Given the description of an element on the screen output the (x, y) to click on. 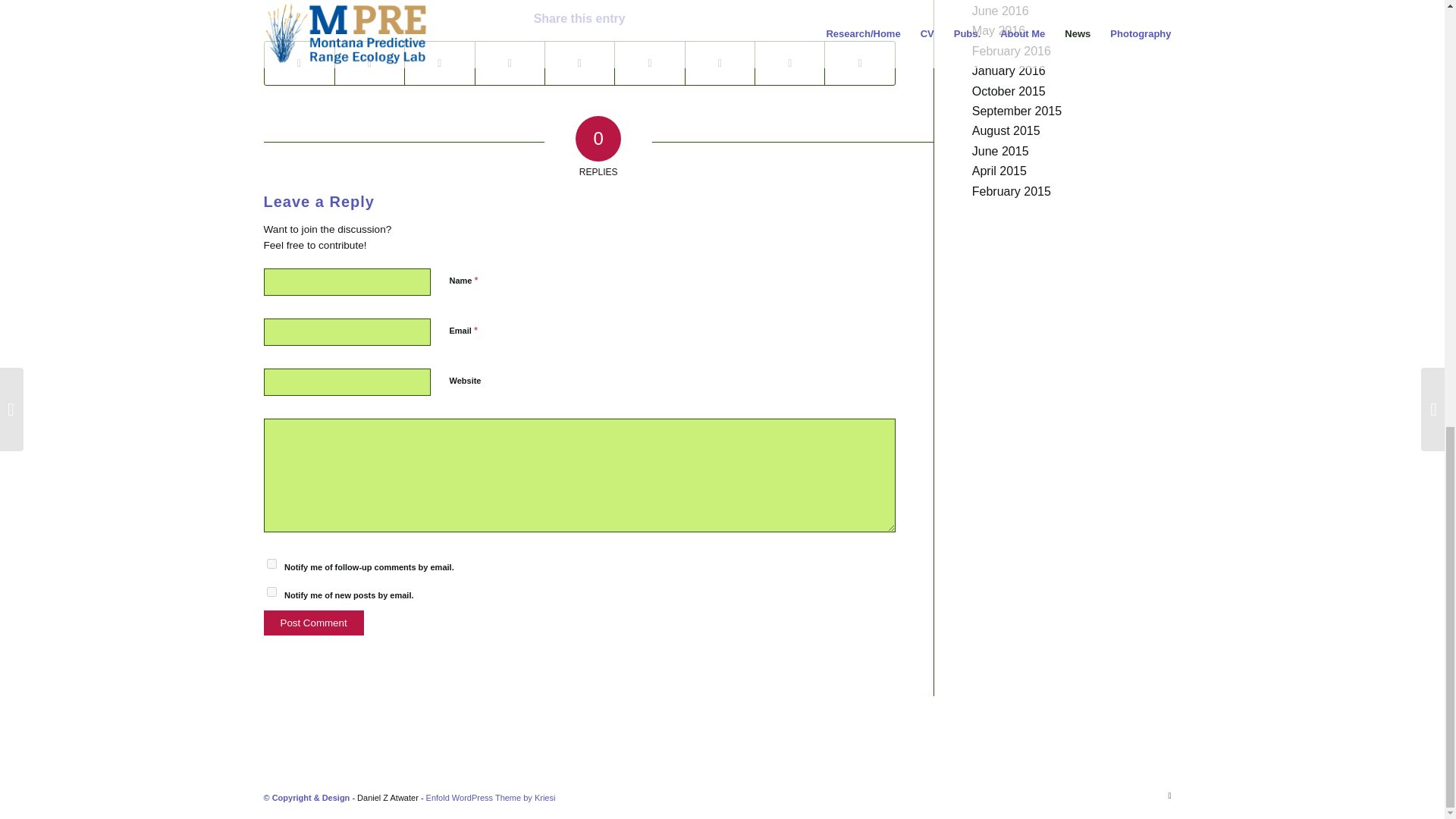
subscribe (271, 563)
Post Comment (313, 622)
Post Comment (313, 622)
subscribe (271, 592)
